Given the description of an element on the screen output the (x, y) to click on. 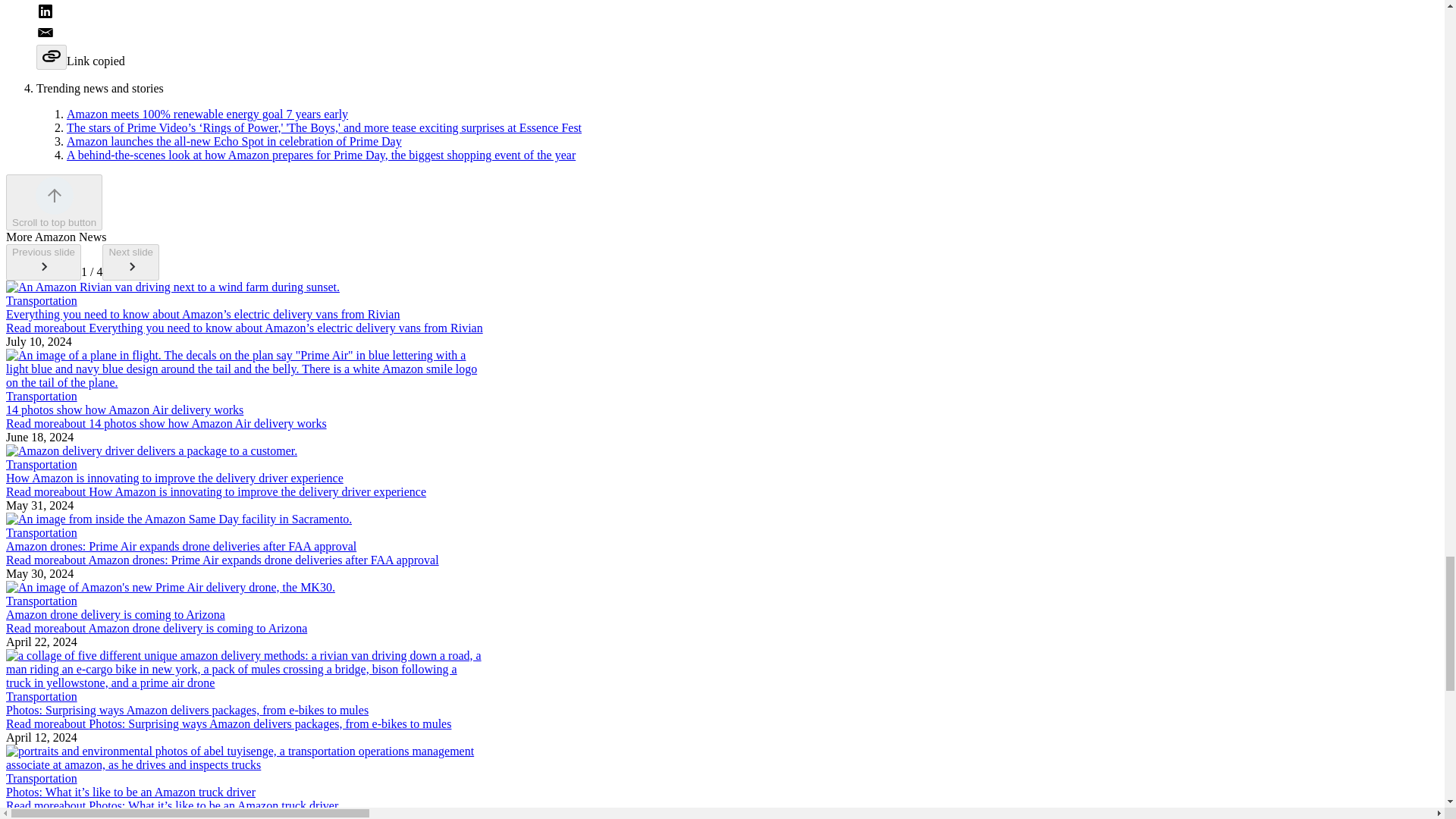
Scroll to top button (53, 202)
copy link (51, 57)
email (737, 34)
LinkedIn Share (737, 12)
